Given the description of an element on the screen output the (x, y) to click on. 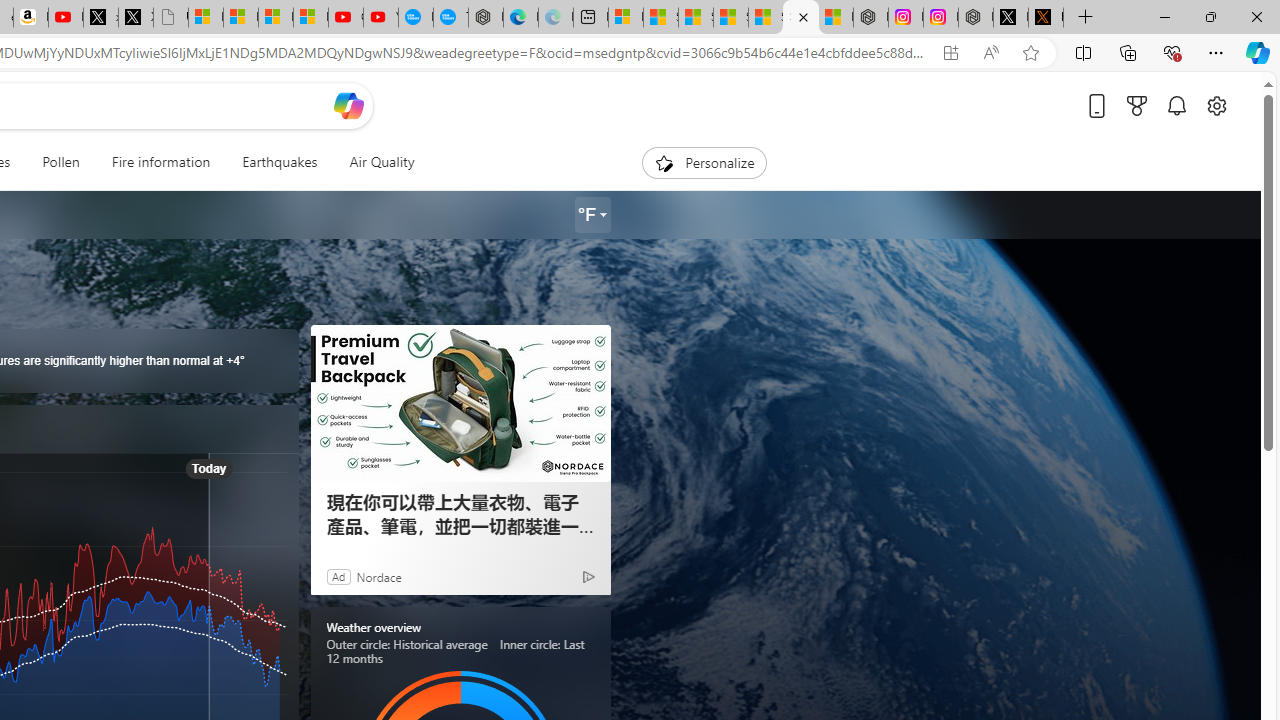
Shanghai, China weather forecast | Microsoft Weather (660, 17)
Settings and more (Alt+F) (1215, 52)
App available. Install Microsoft Start Weather (950, 53)
Open Copilot (347, 105)
Day 1: Arriving in Yemen (surreal to be here) - YouTube (65, 17)
Pollen (60, 162)
Shanghai, China hourly forecast | Microsoft Weather (695, 17)
Add this page to favorites (Ctrl+D) (1030, 53)
Microsoft rewards (1137, 105)
Collections (1128, 52)
Fire information (161, 162)
Restore (1210, 16)
The most popular Google 'how to' searches (450, 17)
